Given the description of an element on the screen output the (x, y) to click on. 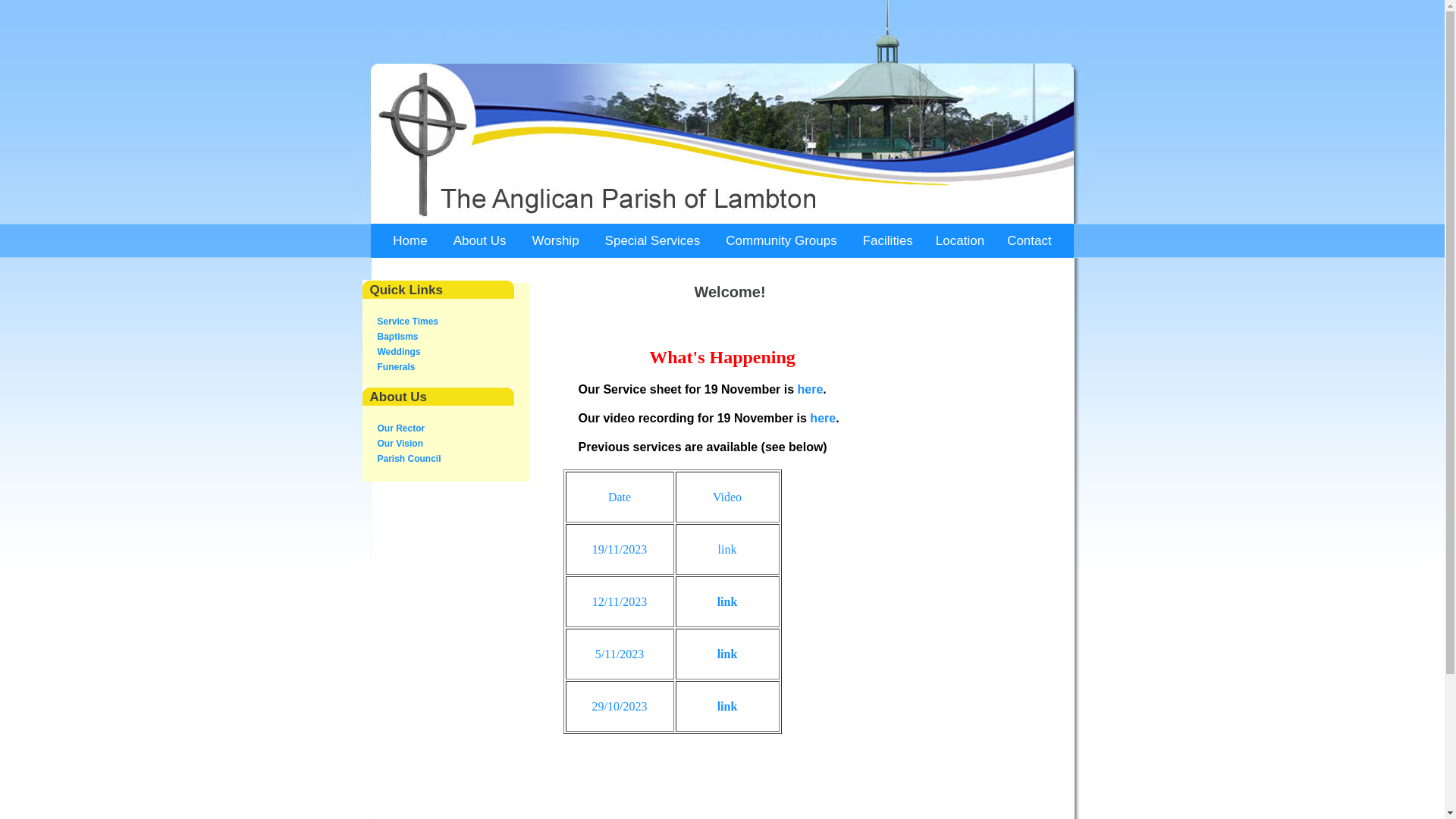
Funerals Element type: text (396, 366)
here Element type: text (810, 388)
Location Element type: text (959, 240)
Our Vision Element type: text (400, 443)
Baptisms Element type: text (397, 336)
link Element type: text (727, 653)
Facilities Element type: text (887, 240)
here Element type: text (822, 417)
About Us Element type: text (479, 240)
Weddings Element type: text (398, 351)
Our Rector Element type: text (401, 428)
Service Times Element type: text (408, 321)
Contact Element type: text (1029, 240)
Worship Element type: text (555, 240)
link Element type: text (727, 600)
Special Services Element type: text (652, 240)
Community Groups Element type: text (780, 240)
link Element type: text (727, 705)
Parish Council Element type: text (409, 458)
Home Element type: text (409, 240)
